Given the description of an element on the screen output the (x, y) to click on. 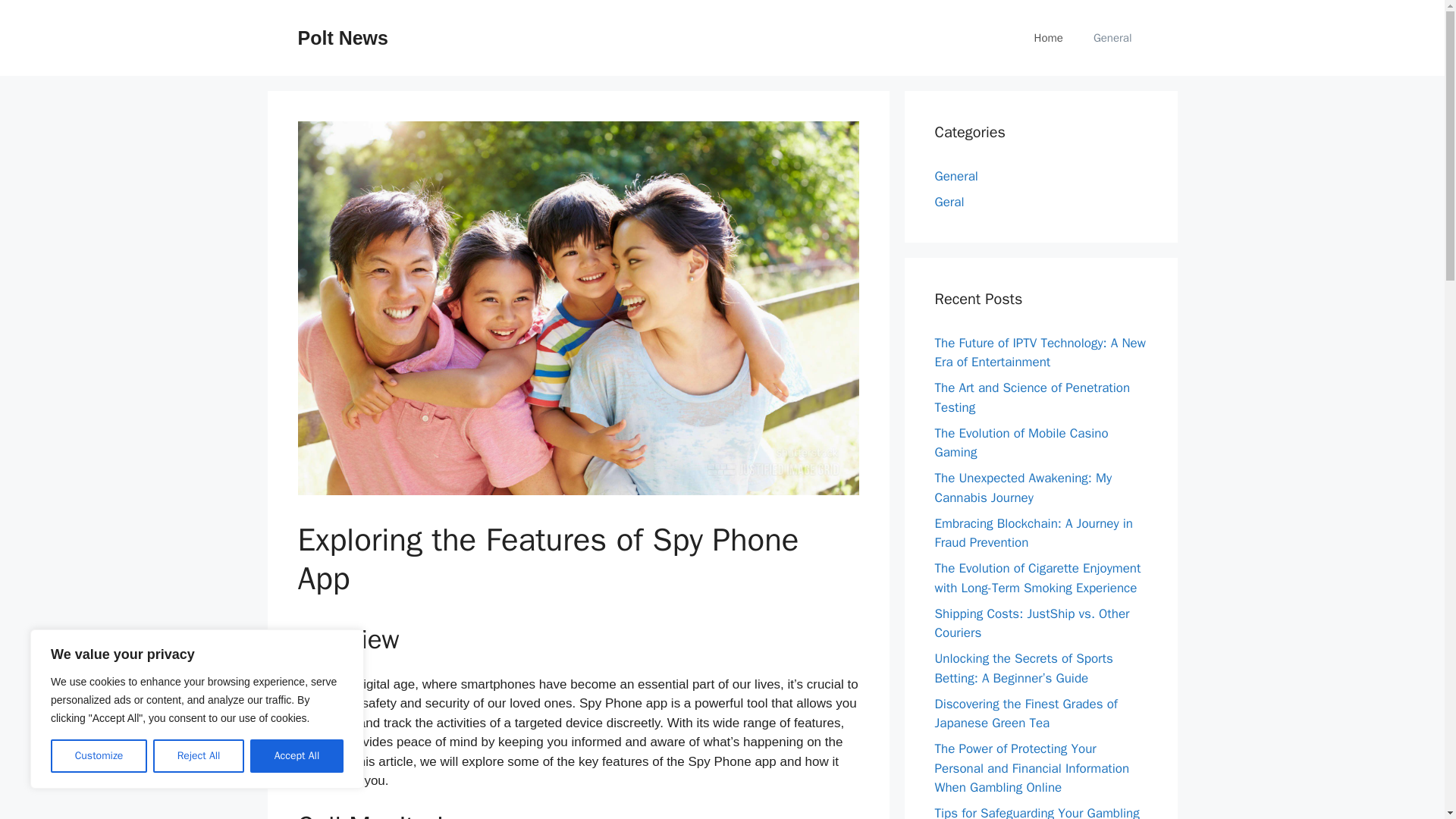
Geral (948, 201)
Customize (98, 756)
The Unexpected Awakening: My Cannabis Journey (1023, 488)
Polt News (342, 37)
General (955, 176)
The Evolution of Mobile Casino Gaming (1021, 442)
Reject All (198, 756)
Home (1048, 37)
The Future of IPTV Technology: A New Era of Entertainment (1039, 352)
Accept All (296, 756)
Embracing Blockchain: A Journey in Fraud Prevention (1033, 533)
Shipping Costs: JustShip vs. Other Couriers (1031, 622)
The Art and Science of Penetration Testing (1031, 397)
General (1112, 37)
